Given the description of an element on the screen output the (x, y) to click on. 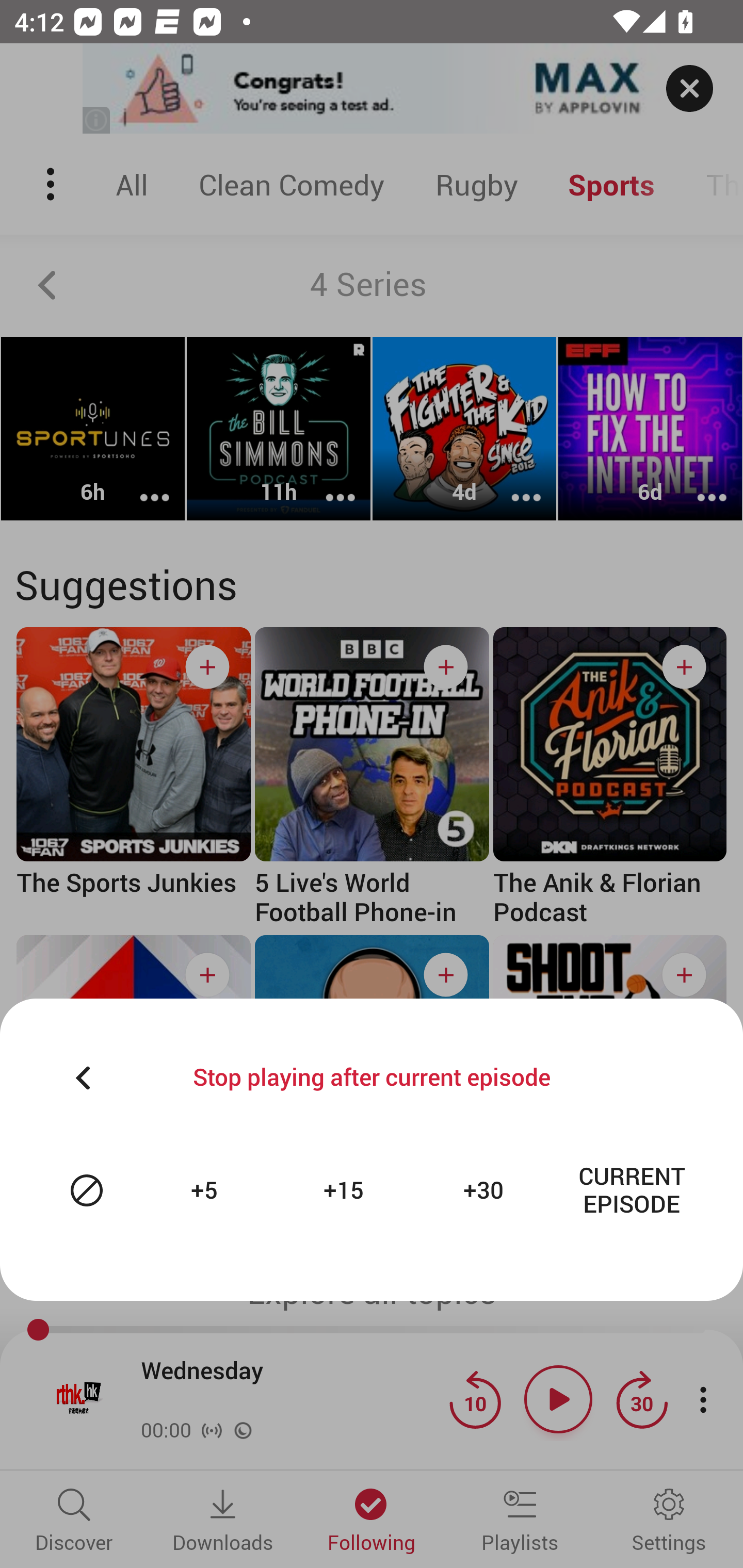
Reset (86, 1190)
+5  (206, 1190)
+15  (346, 1190)
+30  (486, 1190)
CURRENT
EPISODE (631, 1190)
